Given the description of an element on the screen output the (x, y) to click on. 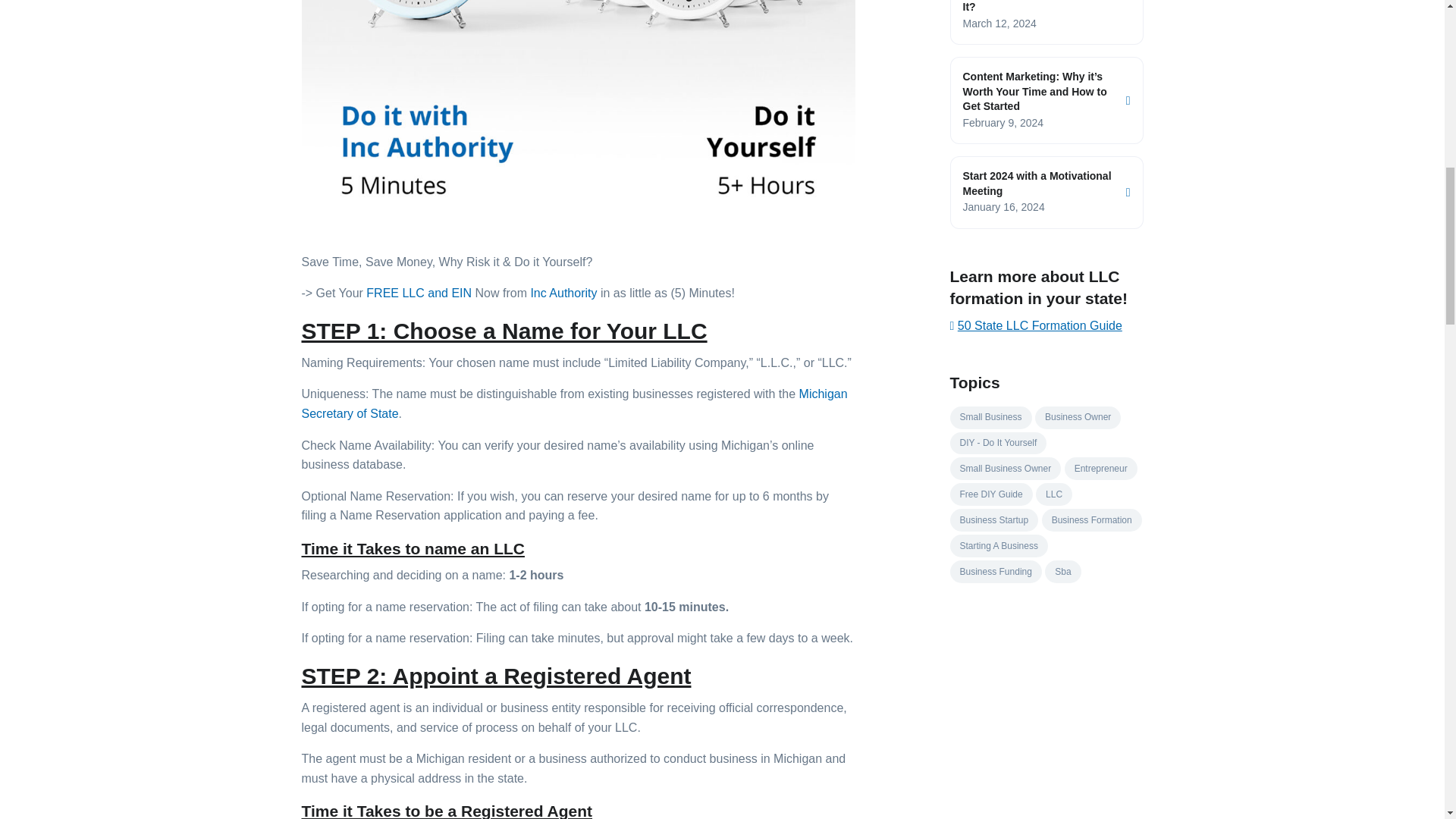
Michigan Secretary of State (574, 403)
Inc Authority (562, 292)
FREE LLC and EIN (420, 292)
